Given the description of an element on the screen output the (x, y) to click on. 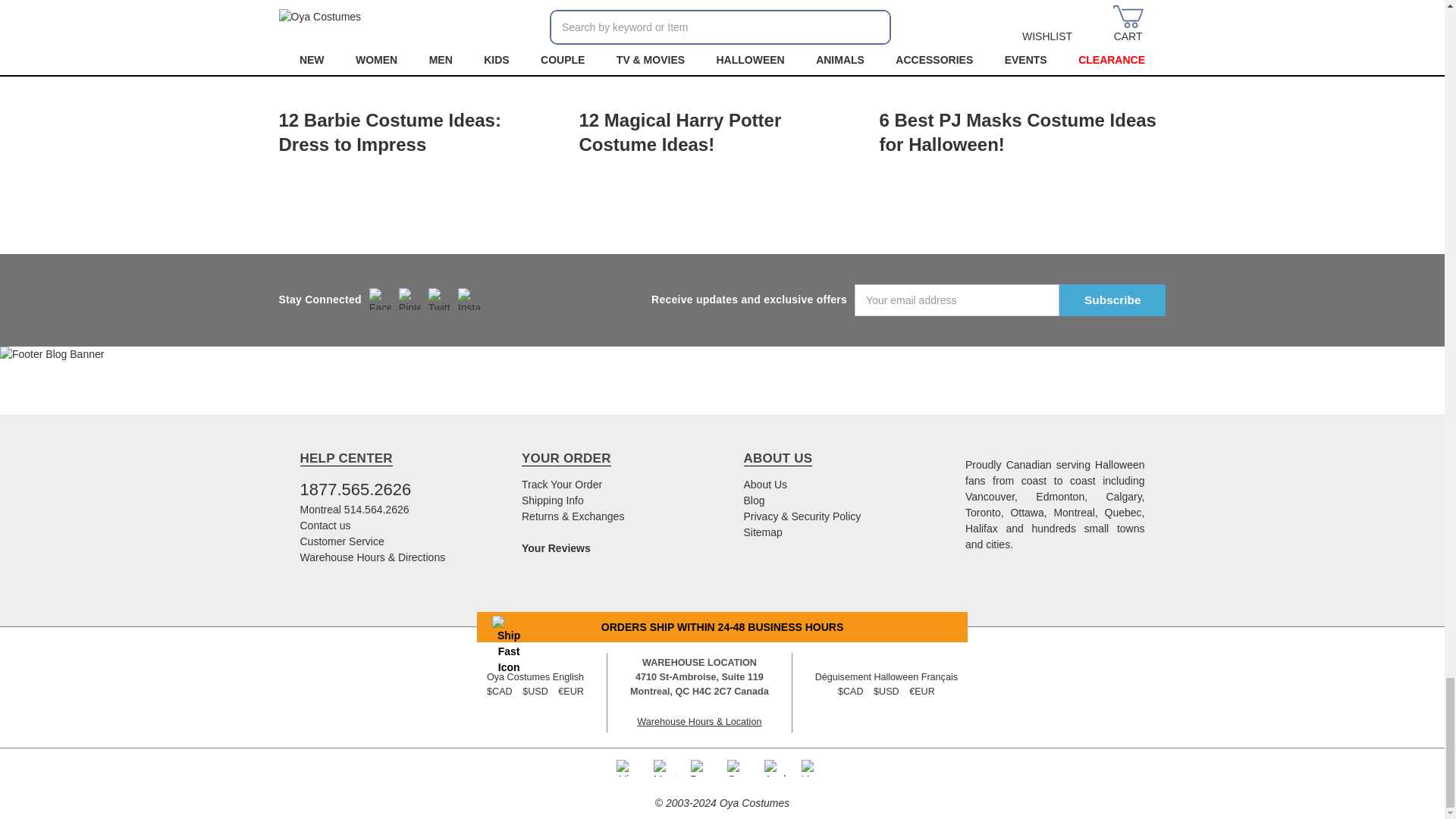
Subscribe (1112, 300)
